Given the description of an element on the screen output the (x, y) to click on. 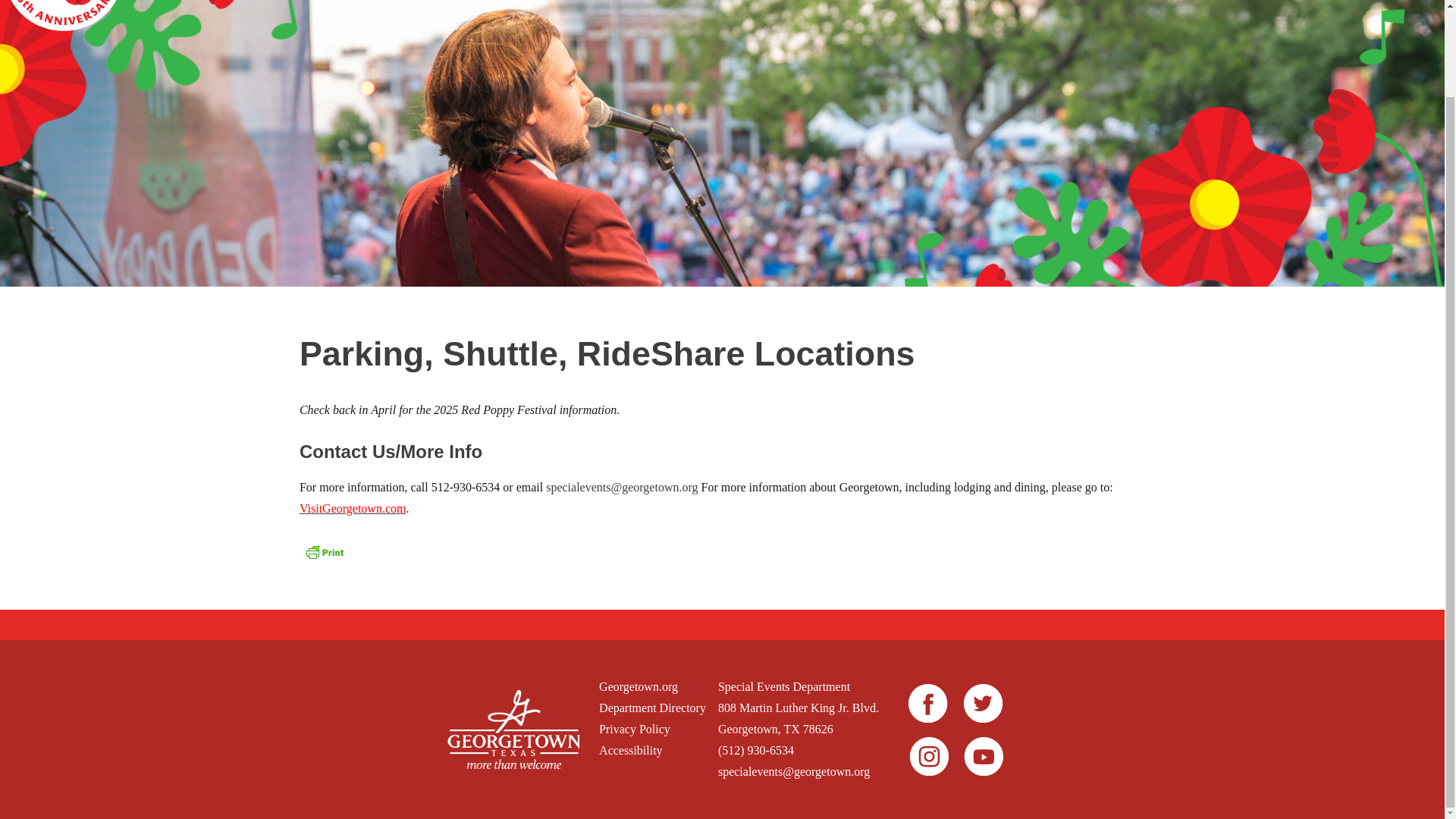
Georgetown.org (652, 686)
Department Directory (652, 708)
VisitGeorgetown.com (352, 508)
Privacy Policy (652, 729)
